Given the description of an element on the screen output the (x, y) to click on. 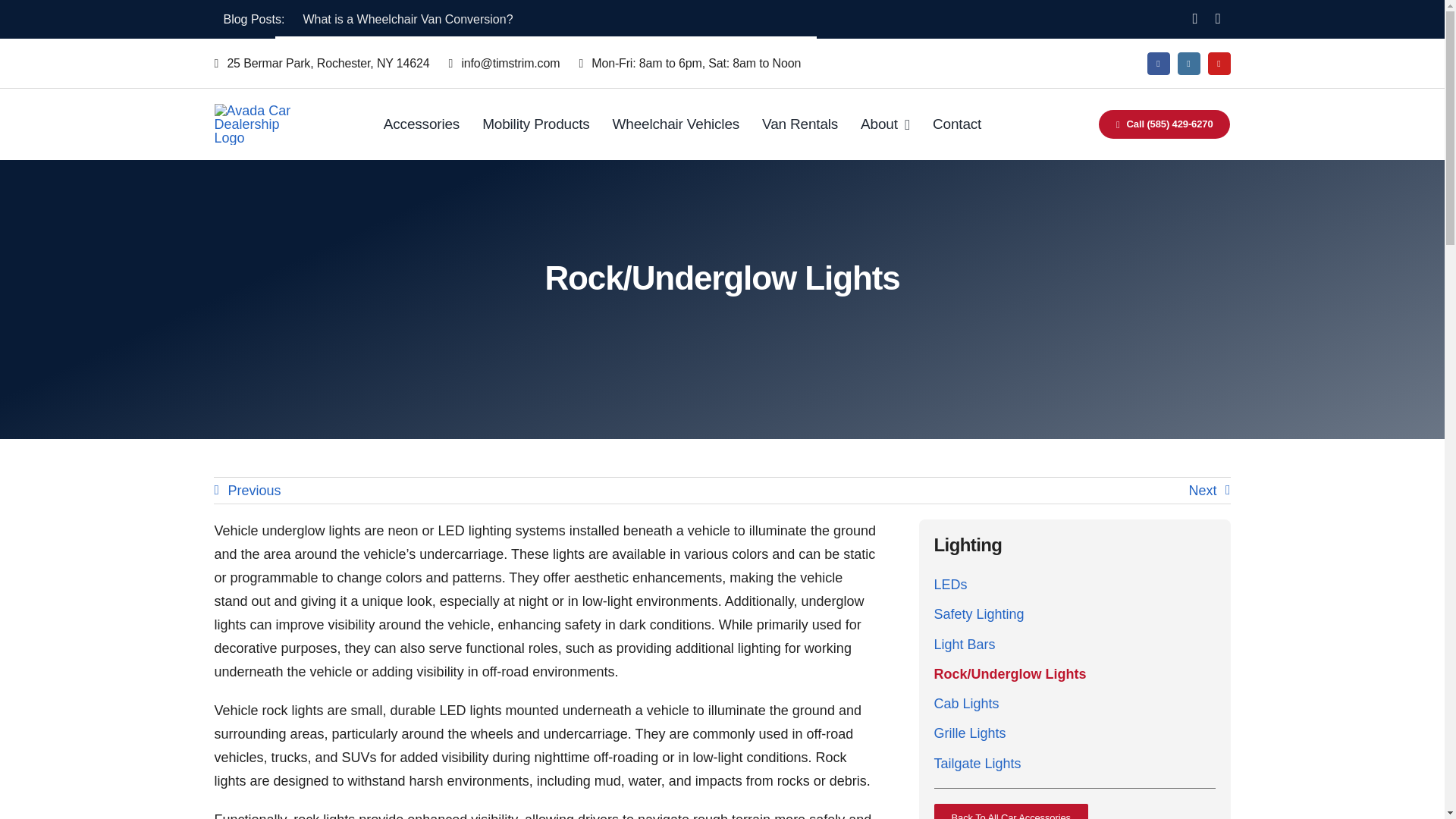
Instagram (1187, 63)
Mobility Products (535, 124)
Mon-Fri: 8am to 6pm, Sat: 8am to Noon (698, 63)
Van Rentals (799, 124)
YouTube (1218, 63)
25 Bermar Park, Rochester, NY 14624 (331, 63)
Wheelchair Vehicles (675, 124)
Facebook (1158, 63)
What is a Wheelchair Van Conversion? (407, 19)
Accessories (422, 124)
